Given the description of an element on the screen output the (x, y) to click on. 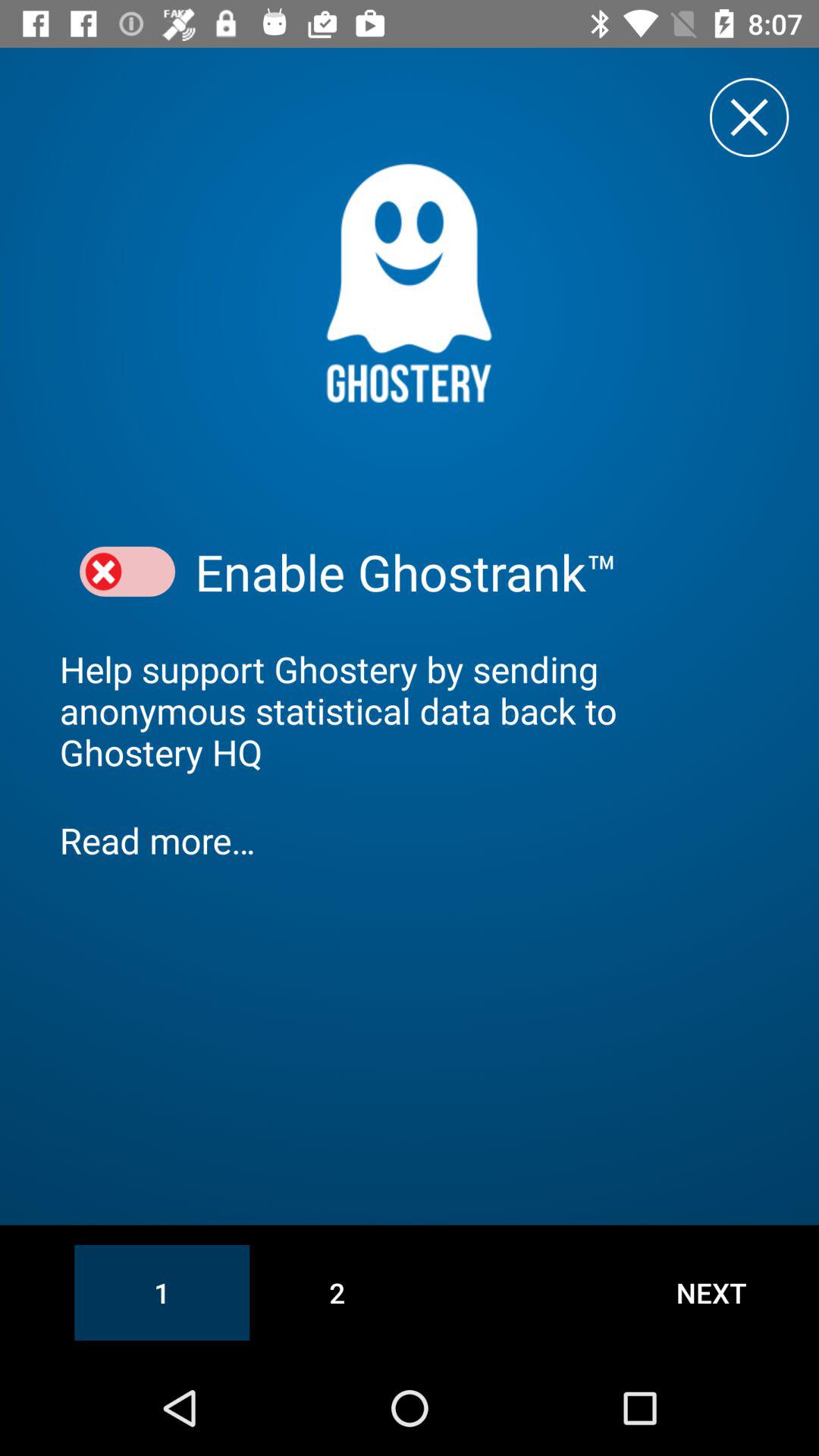
press the item at the top right corner (749, 117)
